Given the description of an element on the screen output the (x, y) to click on. 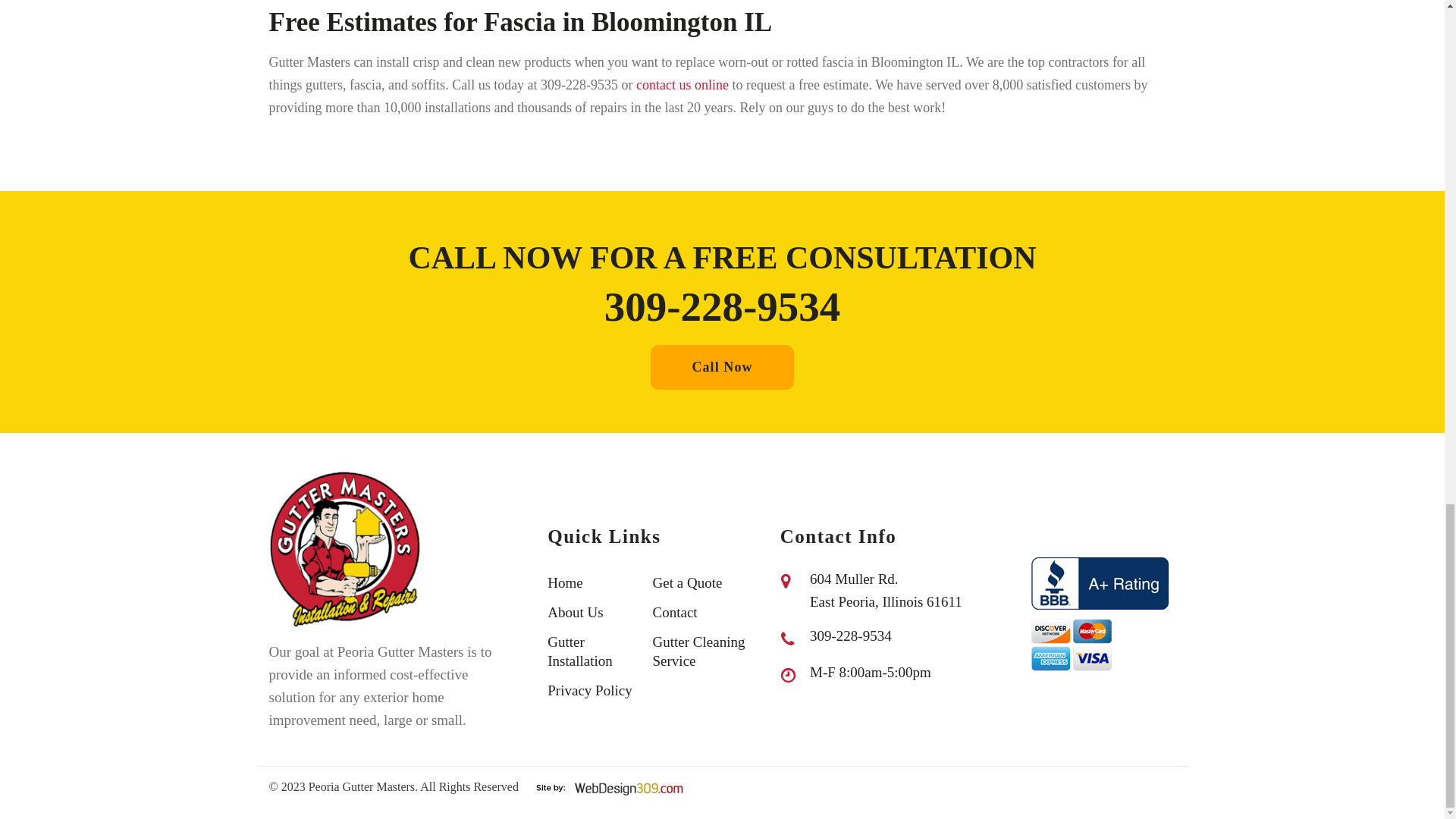
contact us online (682, 84)
309-228-9534 (722, 317)
